Given the description of an element on the screen output the (x, y) to click on. 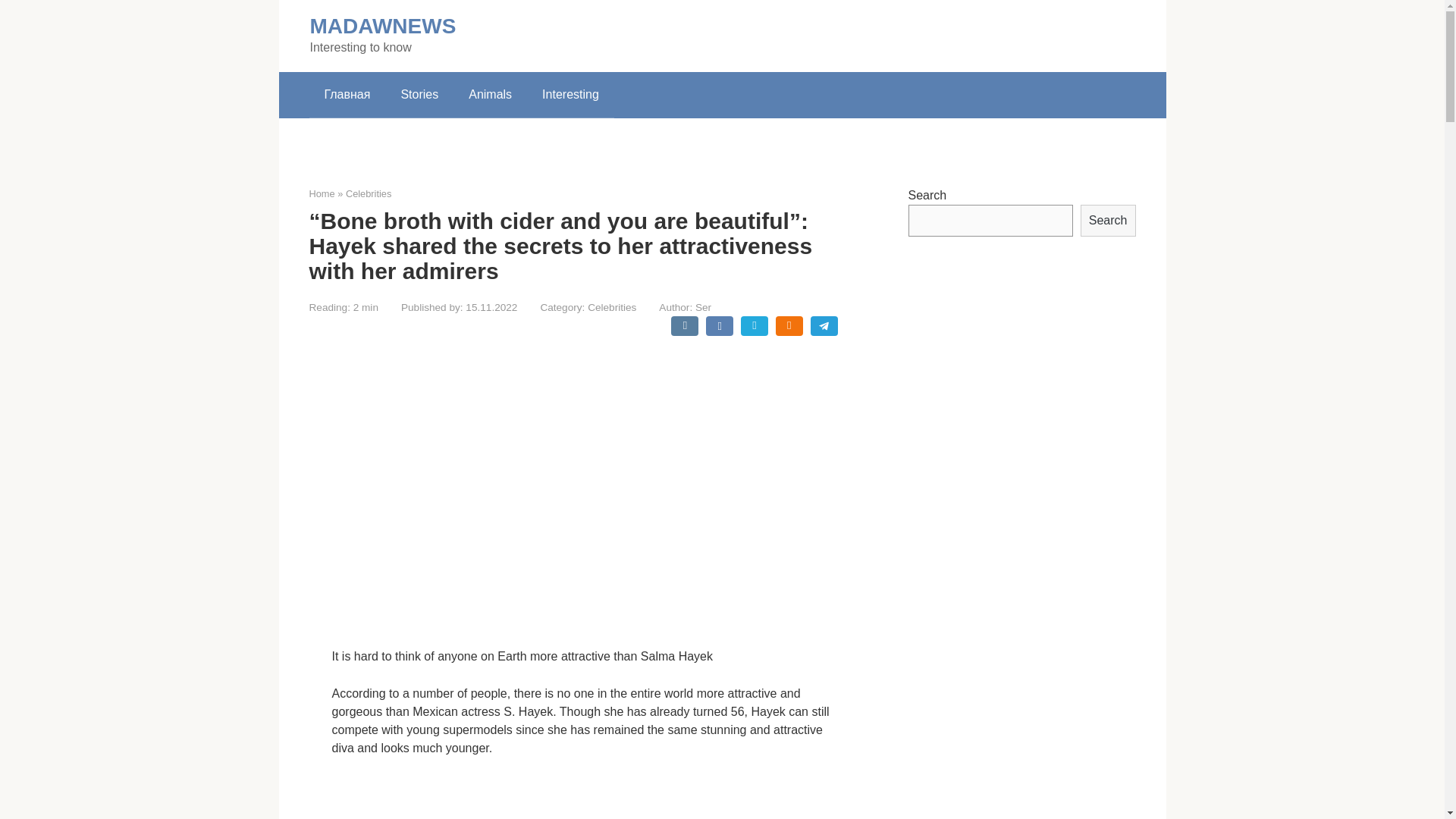
Stories (418, 94)
Home (321, 193)
Celebrities (368, 193)
Celebrities (612, 307)
Animals (489, 94)
Interesting (570, 94)
Search (1107, 220)
MADAWNEWS (381, 25)
